Given the description of an element on the screen output the (x, y) to click on. 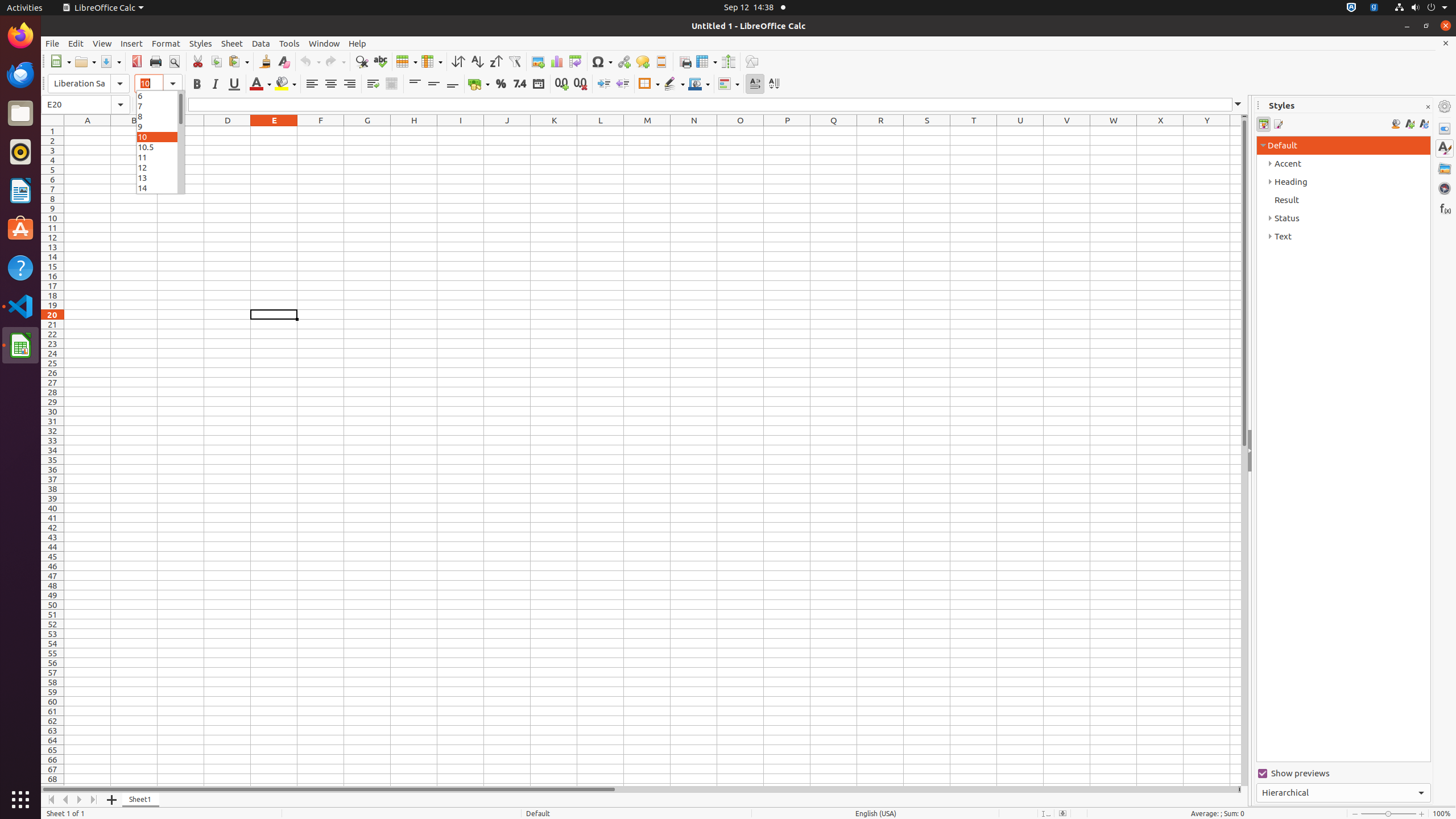
LibreOffice Writer Element type: push-button (20, 190)
Increase Element type: push-button (603, 83)
Clone Element type: push-button (264, 61)
J1 Element type: table-cell (507, 130)
Decrease Element type: push-button (622, 83)
